Given the description of an element on the screen output the (x, y) to click on. 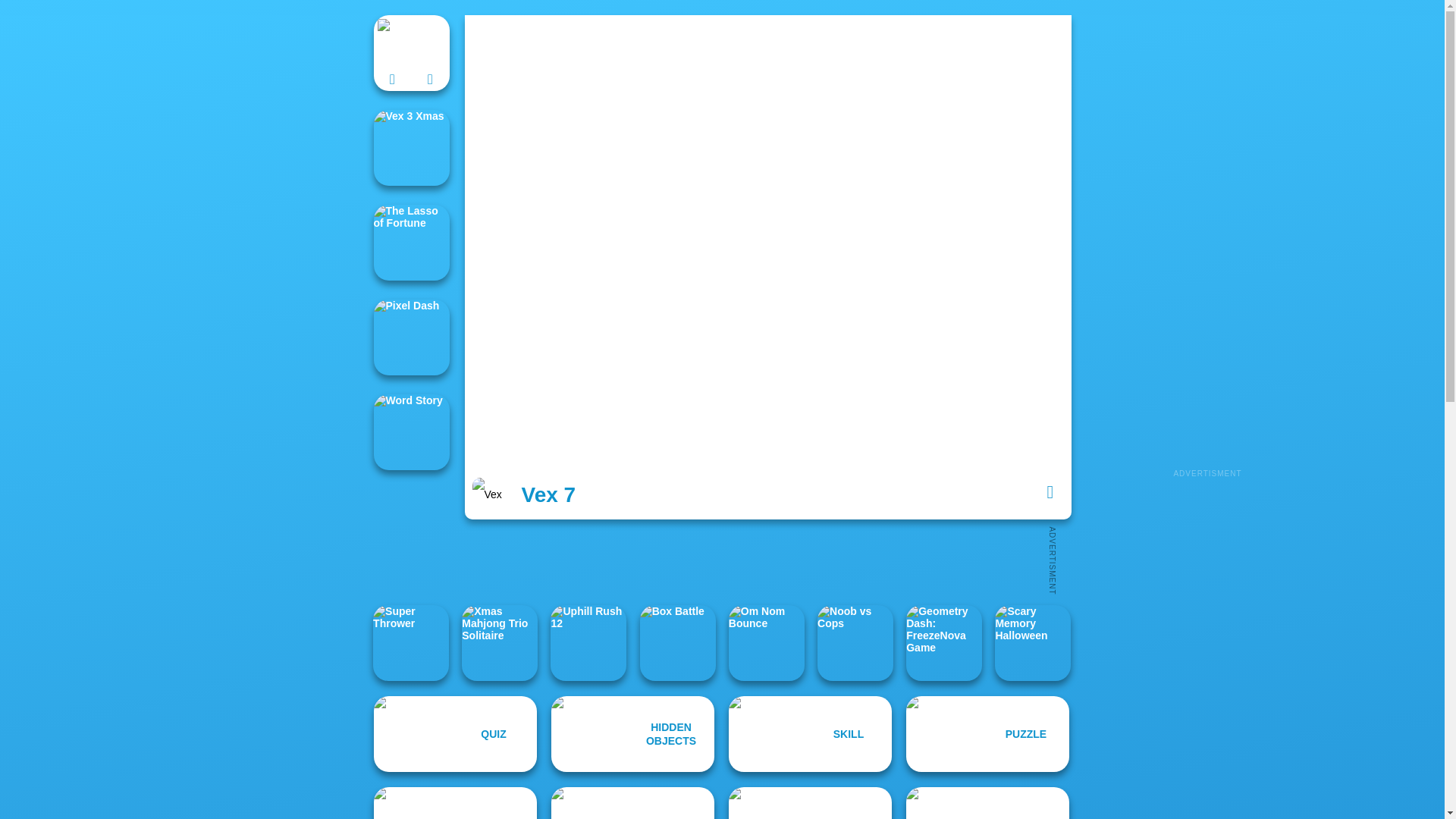
PUZZLE (986, 734)
Hidden Objects (632, 734)
Xmas Mahjong Trio Solitaire (499, 642)
The Lasso of Fortune (410, 242)
Cards (455, 803)
Quiz (455, 734)
CARDS (455, 803)
Noob vs Cops (854, 642)
Word Story (410, 431)
Scary Memory Halloween (1032, 642)
